Given the description of an element on the screen output the (x, y) to click on. 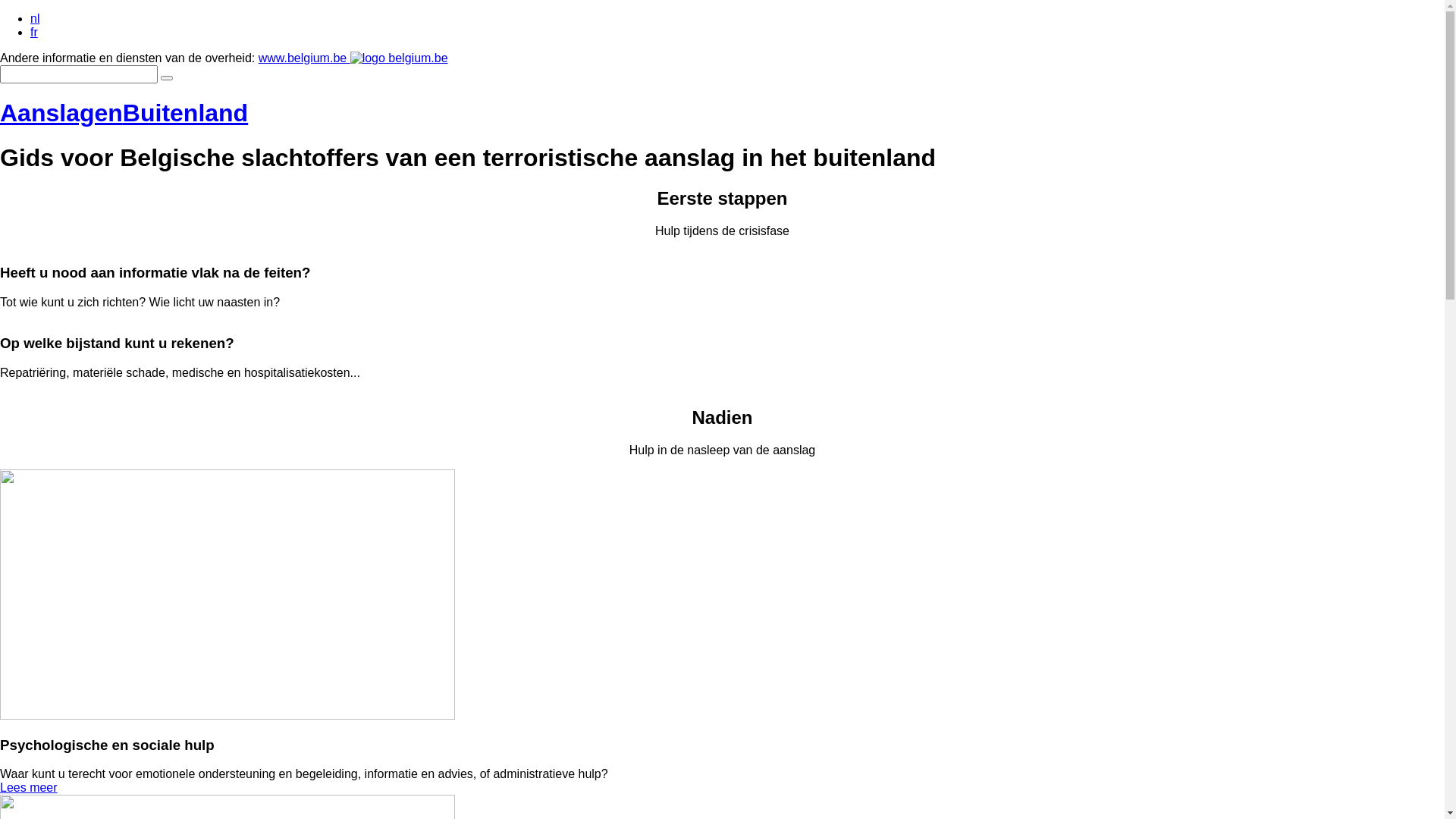
Zoeken Element type: hover (166, 77)
nl Element type: text (34, 18)
Lees meer Element type: text (28, 787)
AanslagenBuitenland Element type: text (123, 112)
www.belgium.be Element type: text (353, 57)
fr Element type: text (33, 31)
Skip to main navigation Element type: text (0, 12)
